Given the description of an element on the screen output the (x, y) to click on. 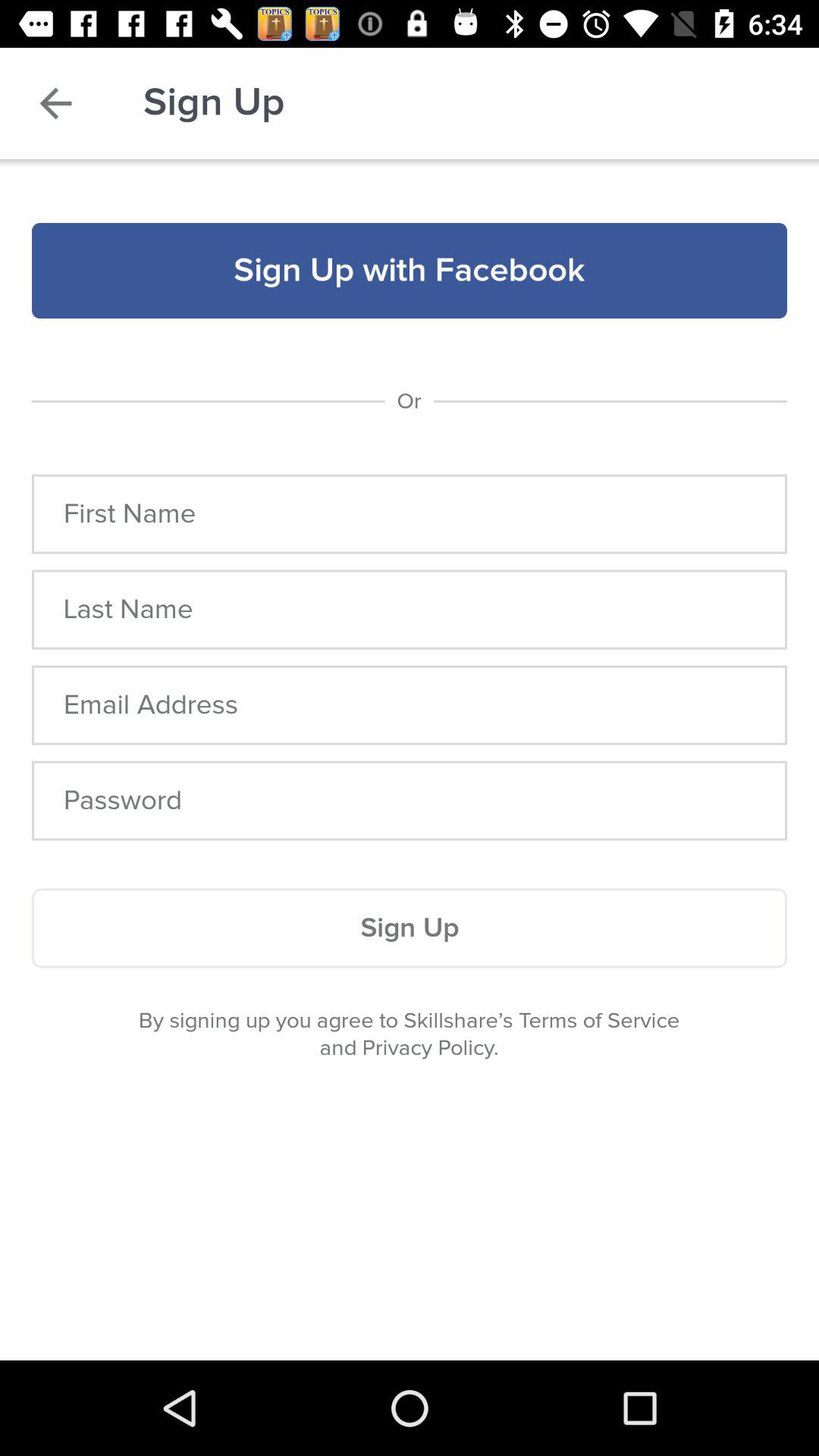
turn on the icon next to sign up (55, 103)
